Given the description of an element on the screen output the (x, y) to click on. 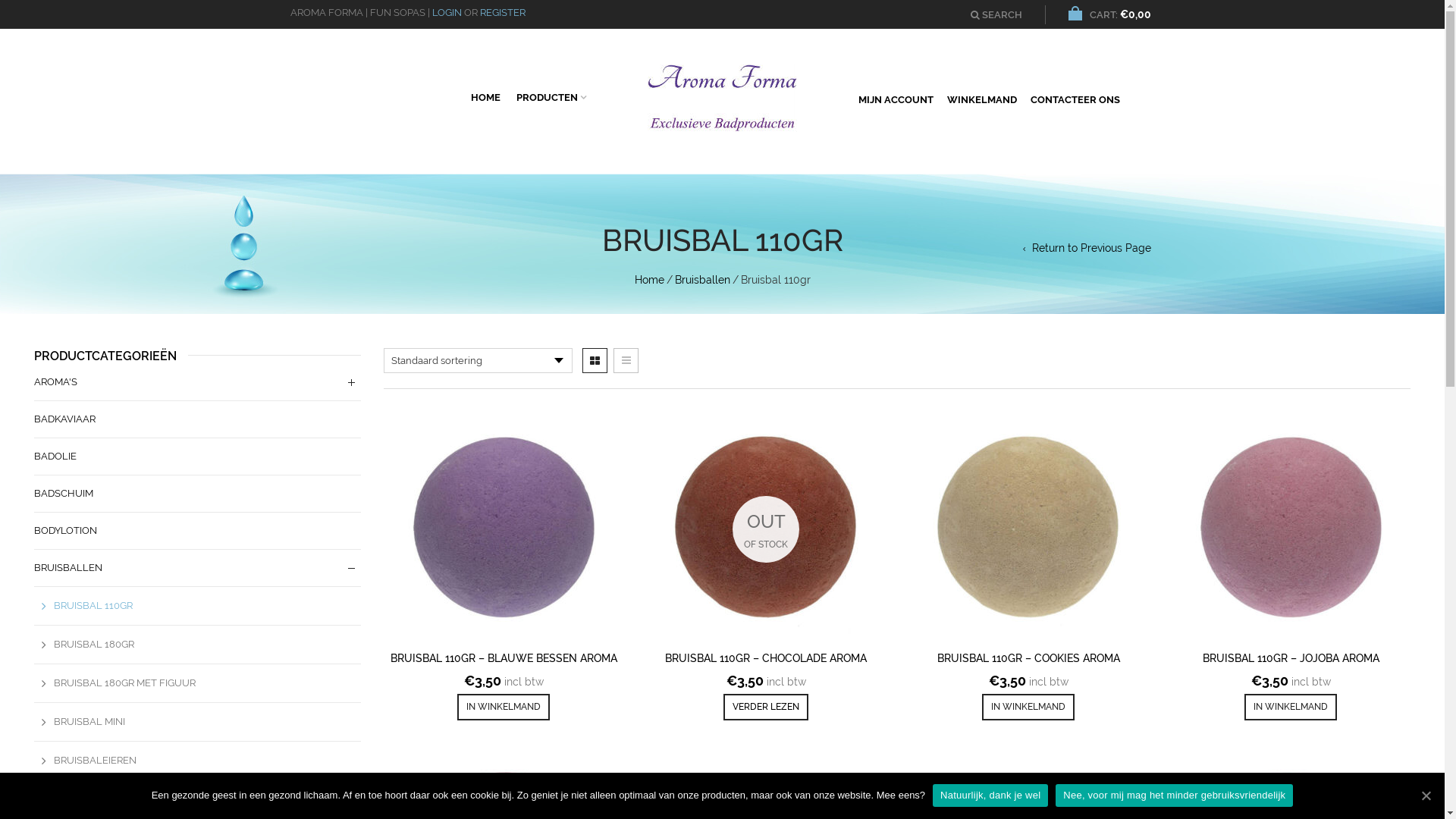
IN WINKELMAND Element type: text (1028, 706)
BRUISBALLEN Element type: text (68, 567)
WINKELMAND Element type: text (981, 97)
Bruisballen Element type: text (702, 279)
Bruisbal 110gr - Blauwe bessen aroma Element type: hover (503, 529)
Home Element type: text (648, 279)
BRUISBAL 180GR MET FIGUUR Element type: text (114, 683)
DOUCHEGEL Element type: text (64, 798)
BRUISBAL 110GR Element type: text (83, 605)
IN WINKELMAND Element type: text (503, 706)
Return to Previous Page Element type: text (1086, 247)
PRODUCTEN Element type: text (551, 95)
BADOLIE Element type: text (55, 456)
REGISTER Element type: text (501, 12)
Bruisbal 110gr - Cookies aroma Element type: hover (1028, 529)
IN WINKELMAND Element type: text (1290, 706)
Nee, voor mij mag het minder gebruiksvriendelijk Element type: text (1173, 795)
BODYLOTION Element type: text (65, 530)
Bruisbal 110gr - Chocolade aroma Element type: hover (765, 529)
BADSCHUIM Element type: text (63, 493)
AROMA'S Element type: text (55, 382)
BRUISBAL 180GR Element type: text (84, 644)
CONTACTEER ONS Element type: text (1074, 97)
BADKAVIAAR Element type: text (64, 419)
BRUISBAL MINI Element type: text (79, 721)
SEARCH Element type: text (996, 14)
OUT
OF STOCK Element type: text (765, 529)
VERDER LEZEN Element type: text (765, 706)
LOGIN Element type: text (446, 12)
Natuurlijk, dank je wel Element type: text (990, 795)
BRUISBALEIEREN Element type: text (85, 760)
Bruisbal 110gr - Jojoba aroma Element type: hover (1290, 529)
MIJN ACCOUNT Element type: text (895, 97)
HOME Element type: text (485, 95)
